Given the description of an element on the screen output the (x, y) to click on. 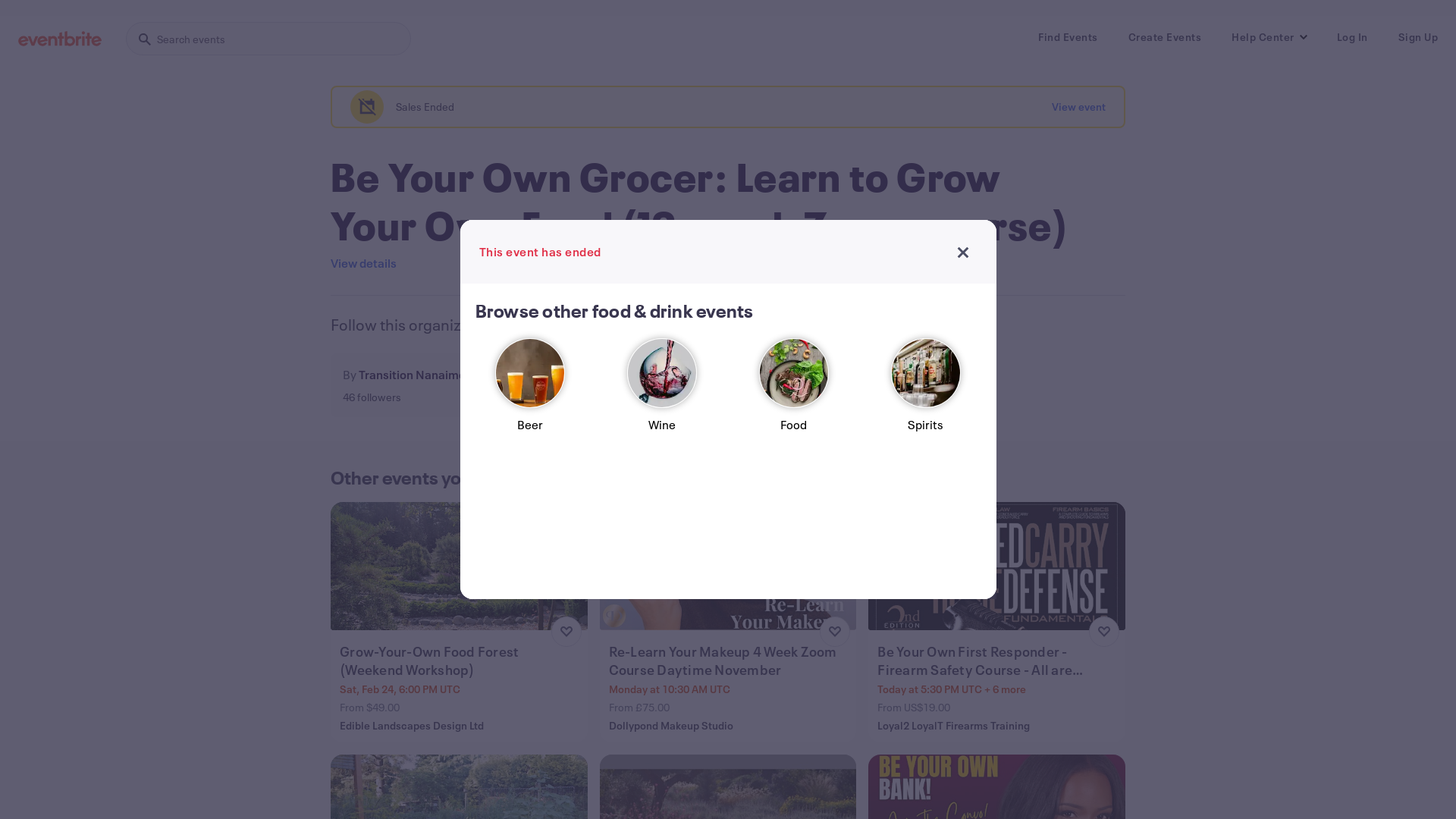
Eventbrite Element type: hover (59, 38)
Re-Learn Your Makeup 4 Week Zoom Course Daytime November Element type: text (729, 660)
Create Events Element type: text (1165, 36)
Log In Element type: text (1351, 36)
Sign Up Element type: text (1418, 36)
Beer Element type: text (530, 391)
View event Element type: text (1078, 106)
Find Events Element type: text (1068, 36)
Wine Element type: text (661, 391)
Food Element type: text (793, 391)
Spirits Element type: text (925, 391)
Grow-Your-Own Food Forest (Weekend Workshop) Element type: text (460, 660)
Follow Element type: text (561, 384)
View details Element type: text (363, 262)
Search events Element type: text (268, 38)
